Given the description of an element on the screen output the (x, y) to click on. 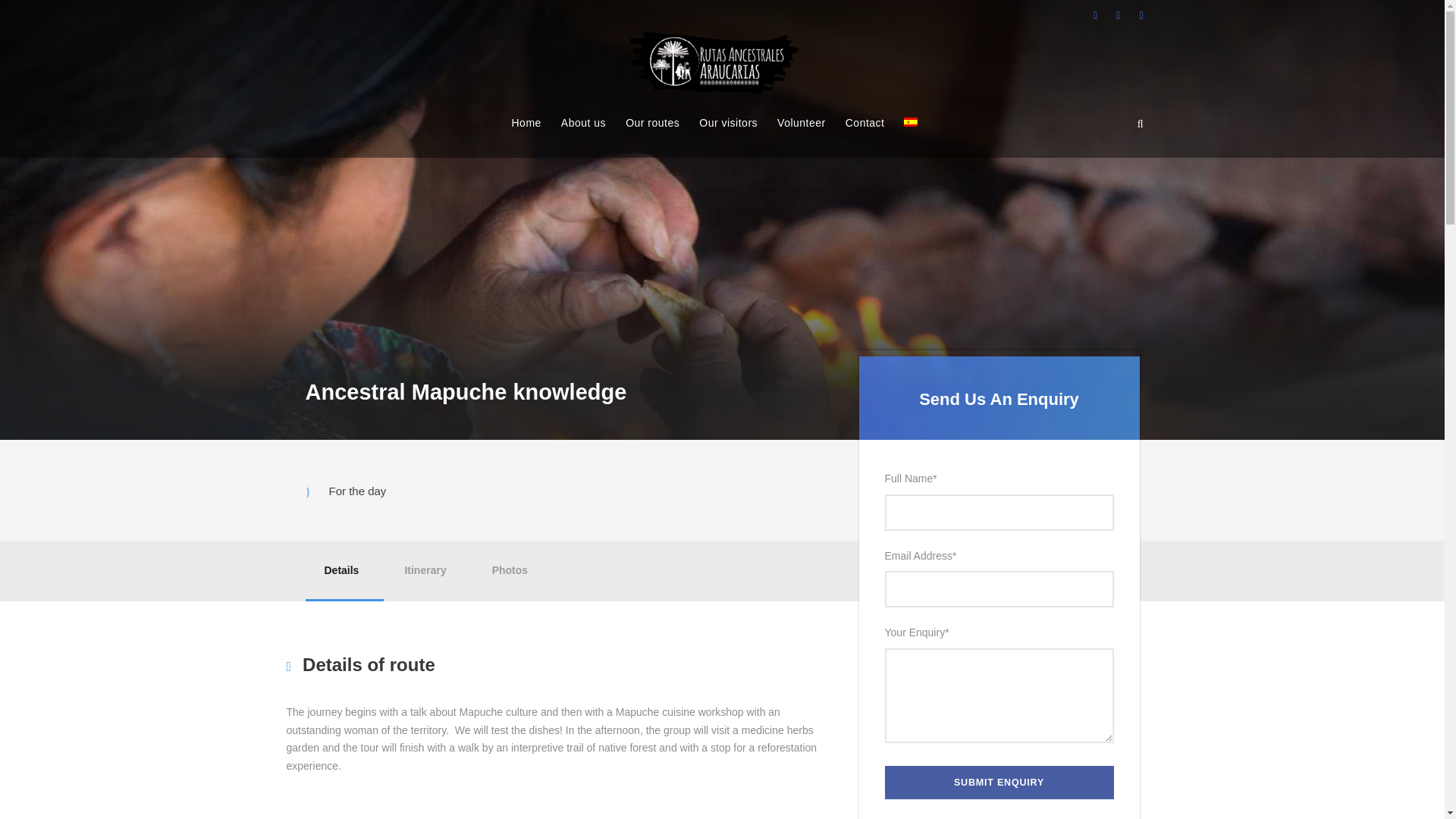
Submit Enquiry (998, 782)
Our routes (652, 136)
Our visitors (727, 136)
About us (582, 136)
Volunteer (801, 136)
